Given the description of an element on the screen output the (x, y) to click on. 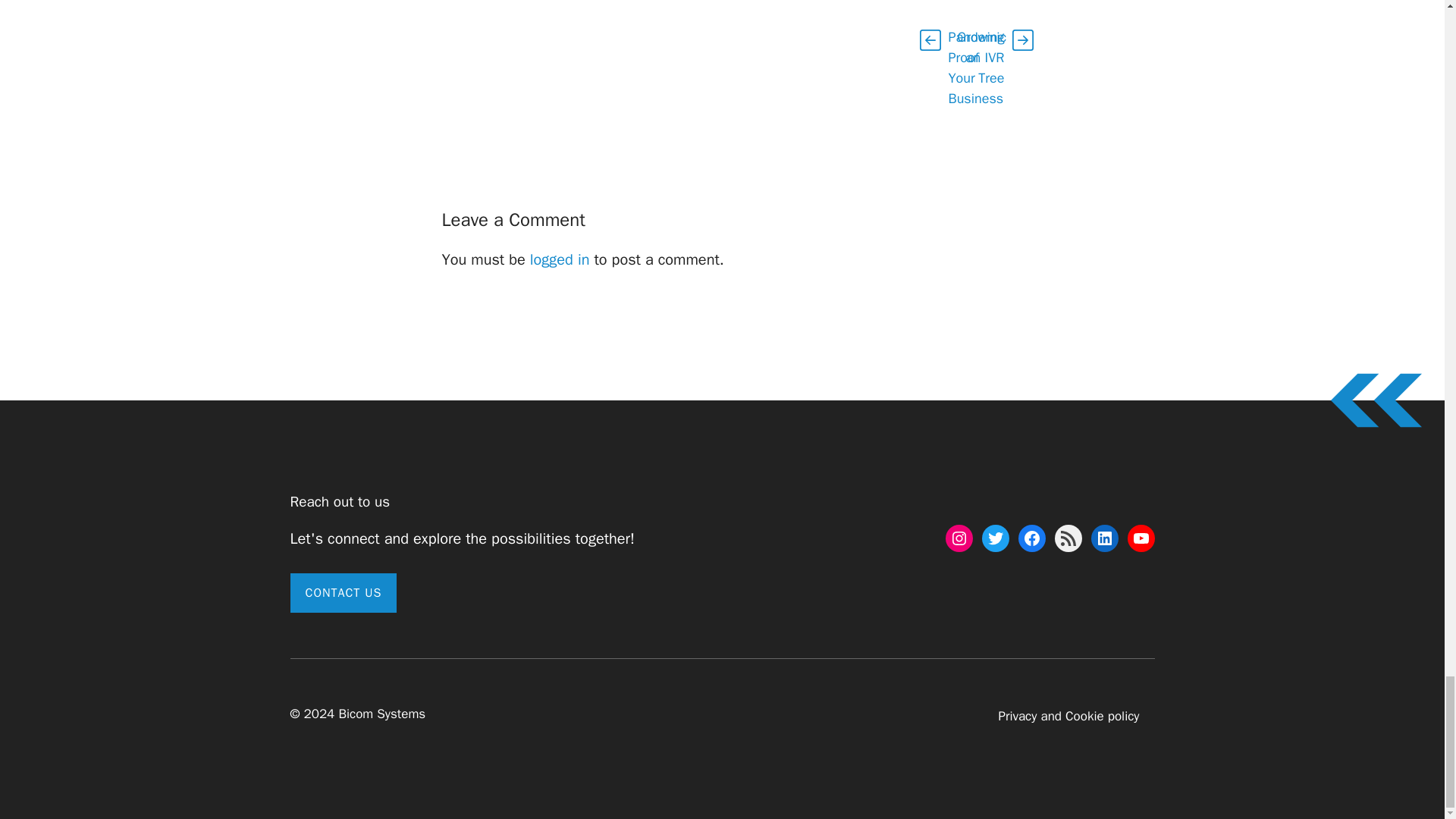
Facebook (1031, 538)
logged in (559, 259)
RSS Feed (1067, 538)
LinkedIn (1104, 538)
Instagram (958, 538)
Twitter (995, 538)
CONTACT US (342, 592)
YouTube (1140, 538)
